Given the description of an element on the screen output the (x, y) to click on. 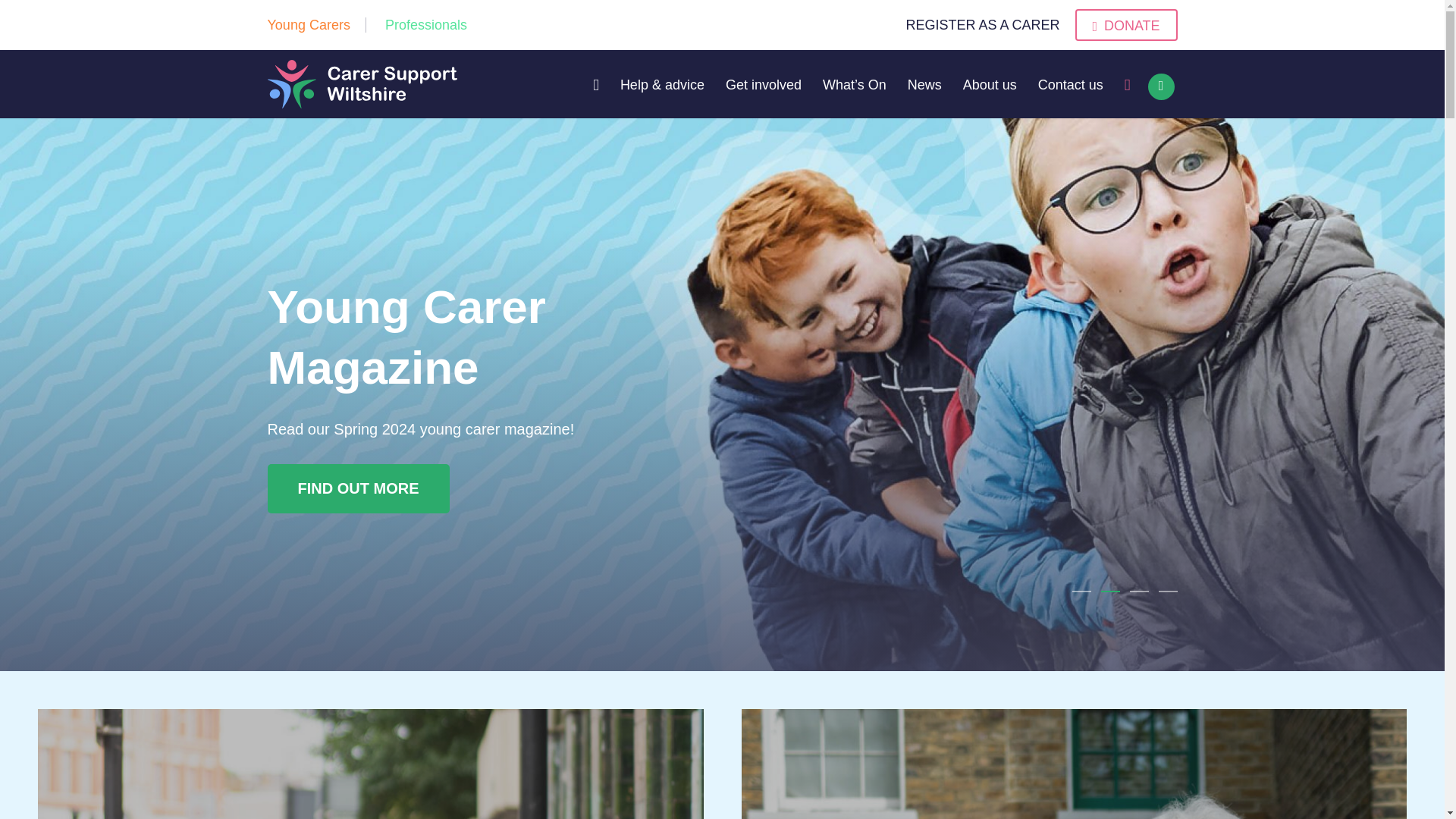
Professionals (426, 24)
FIND OUT MORE (357, 488)
REGISTER AS A CARER (982, 25)
Get involved (763, 84)
DONATE (1126, 24)
Young Carers (307, 24)
Contact us (1070, 84)
About us (990, 84)
